Given the description of an element on the screen output the (x, y) to click on. 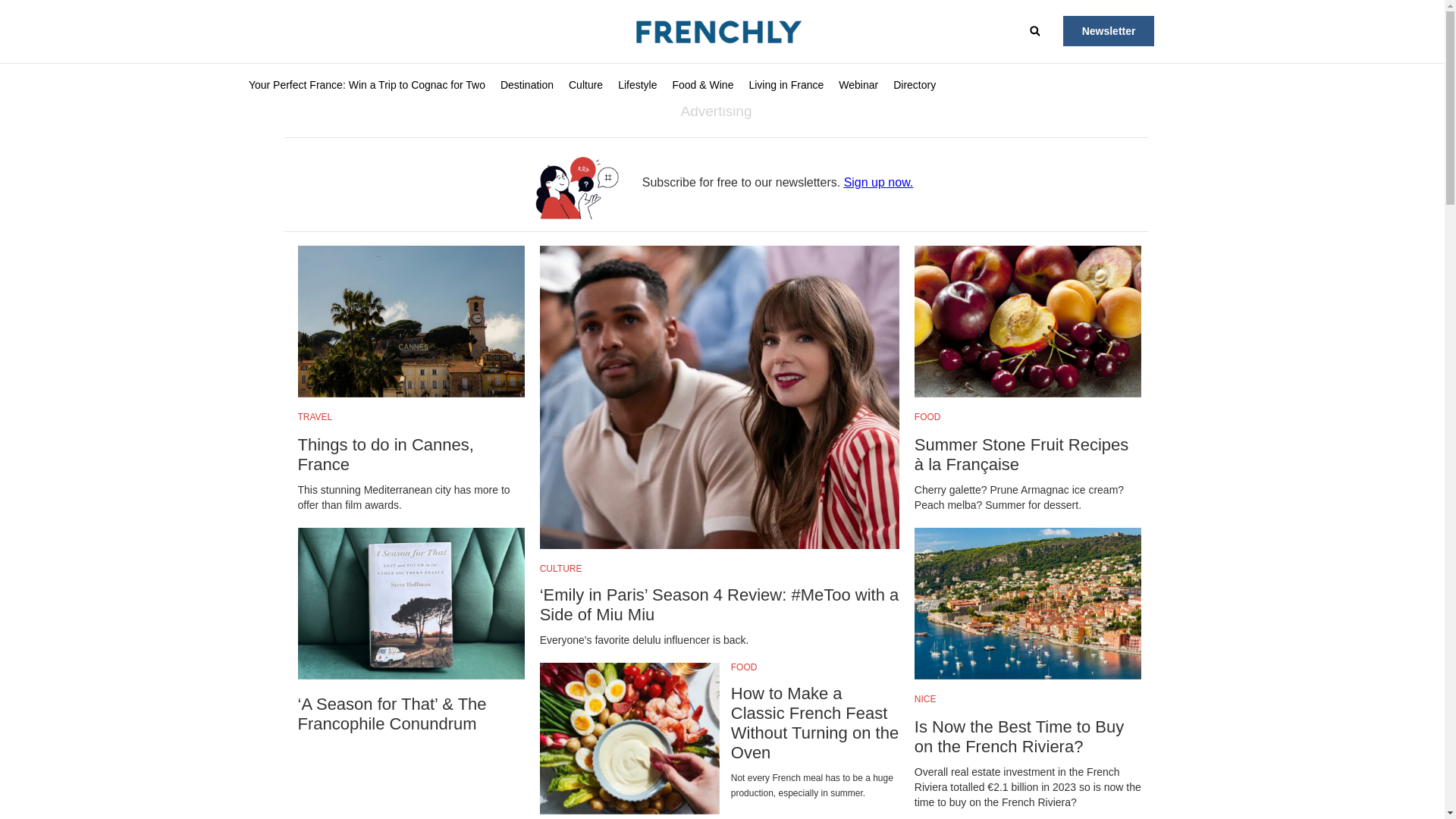
Lifestyle (636, 85)
Destination (526, 85)
Culture (585, 85)
Newsletter (1108, 30)
Living in France (786, 85)
Directory (914, 85)
Webinar (858, 85)
Your Perfect France: Win a Trip to Cognac for Two (367, 85)
